Given the description of an element on the screen output the (x, y) to click on. 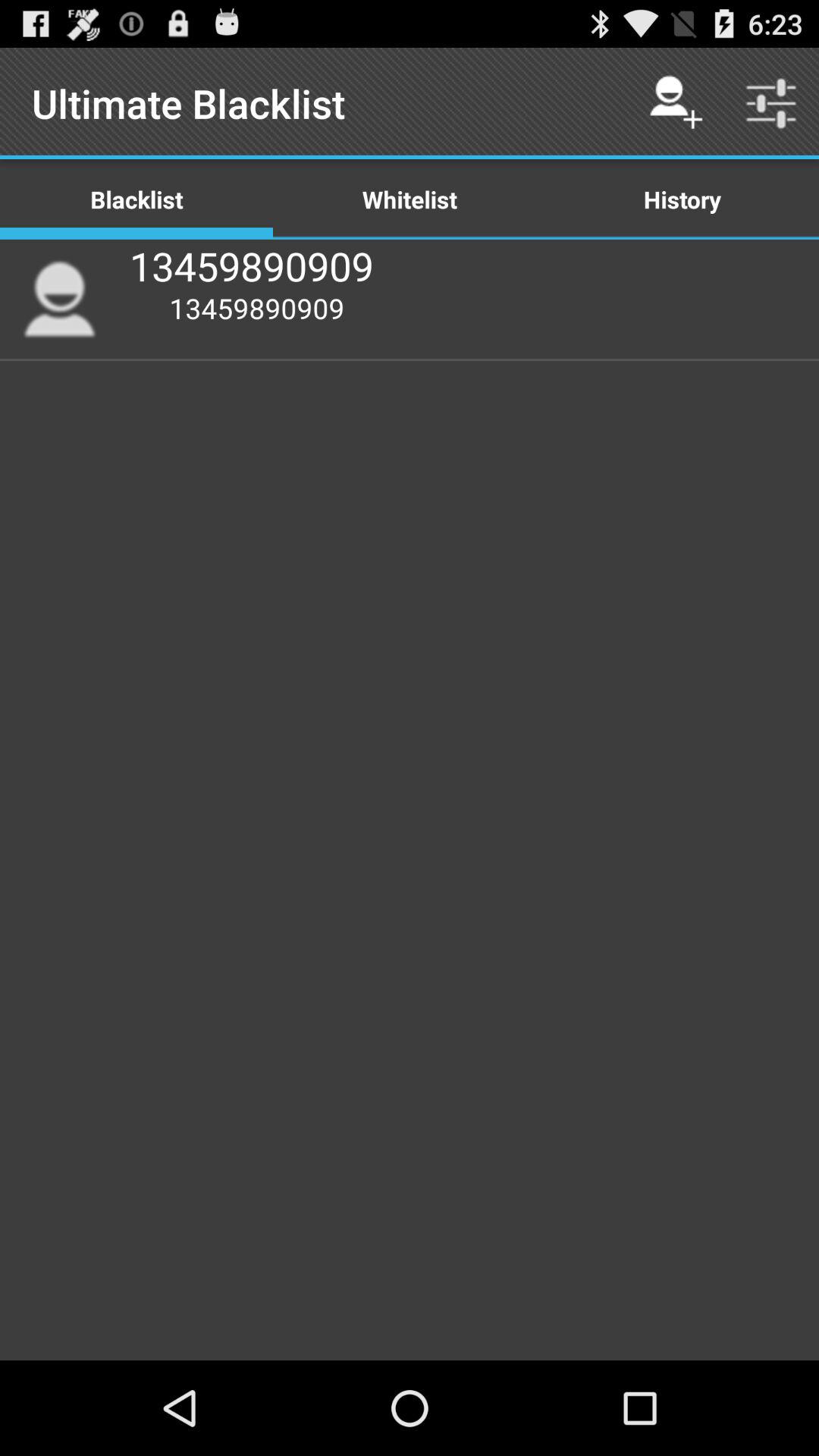
turn on the icon below blacklist icon (59, 298)
